Given the description of an element on the screen output the (x, y) to click on. 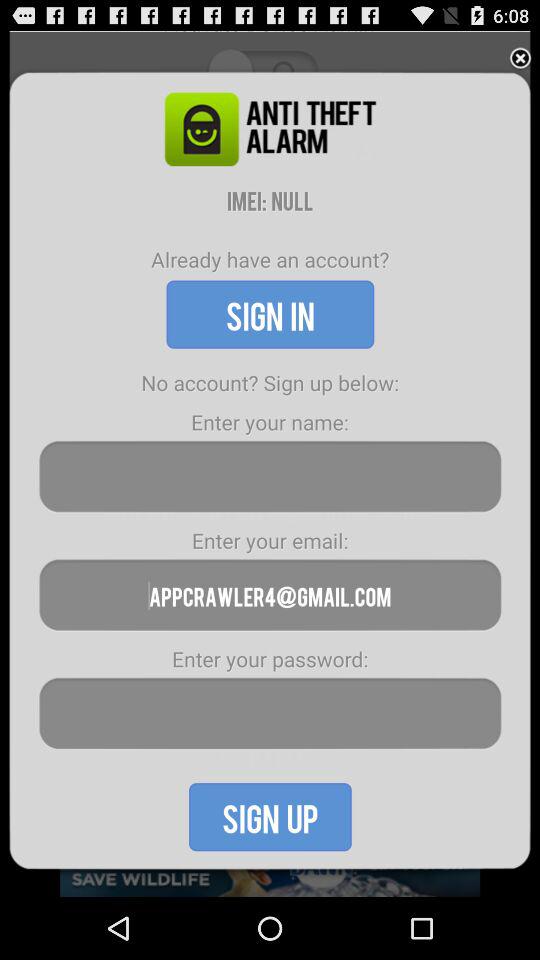
select the password box (270, 713)
